Given the description of an element on the screen output the (x, y) to click on. 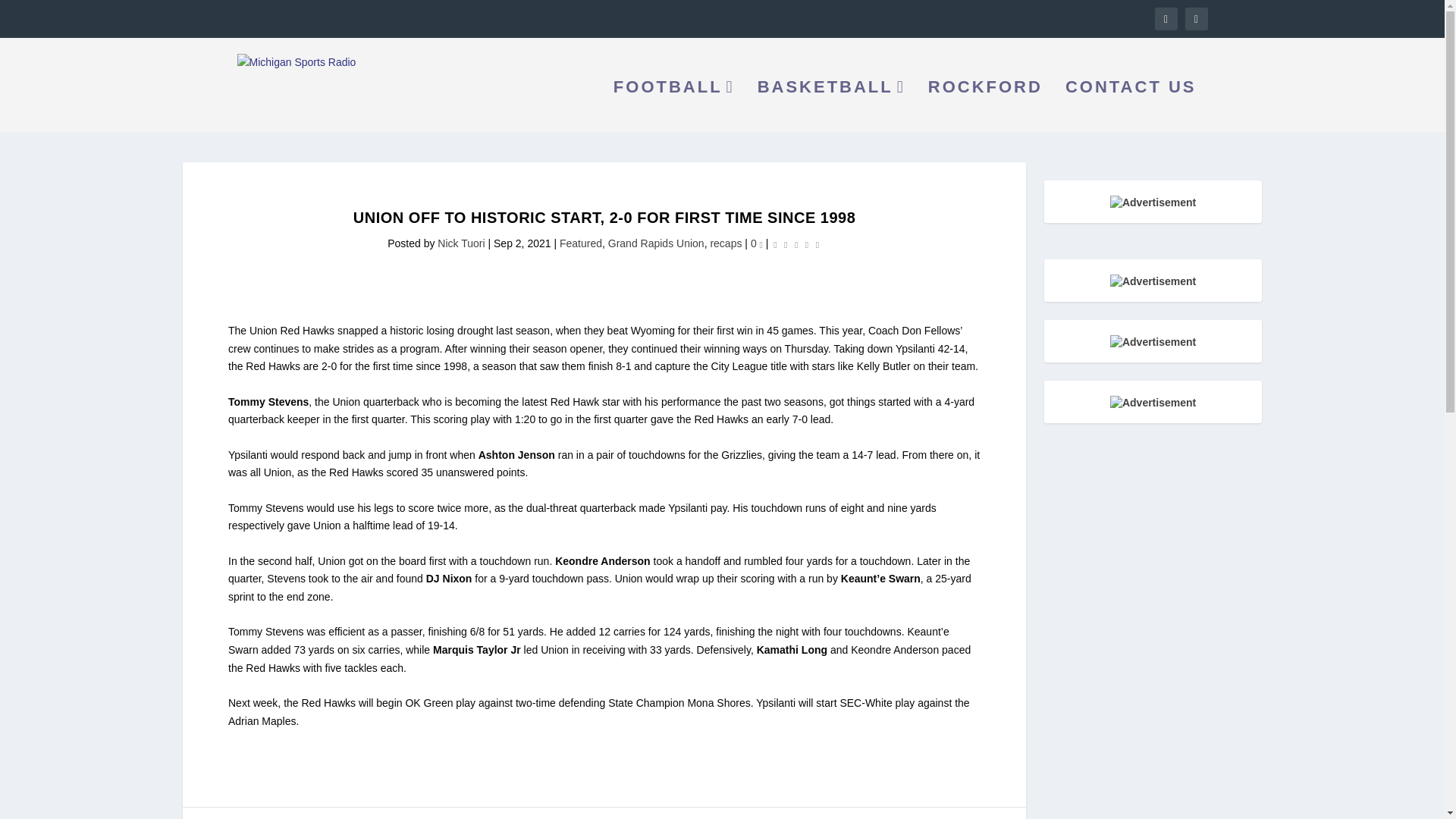
Rating: 0.00 (796, 244)
Posts by Nick Tuori (461, 243)
FOOTBALL (673, 106)
